Given the description of an element on the screen output the (x, y) to click on. 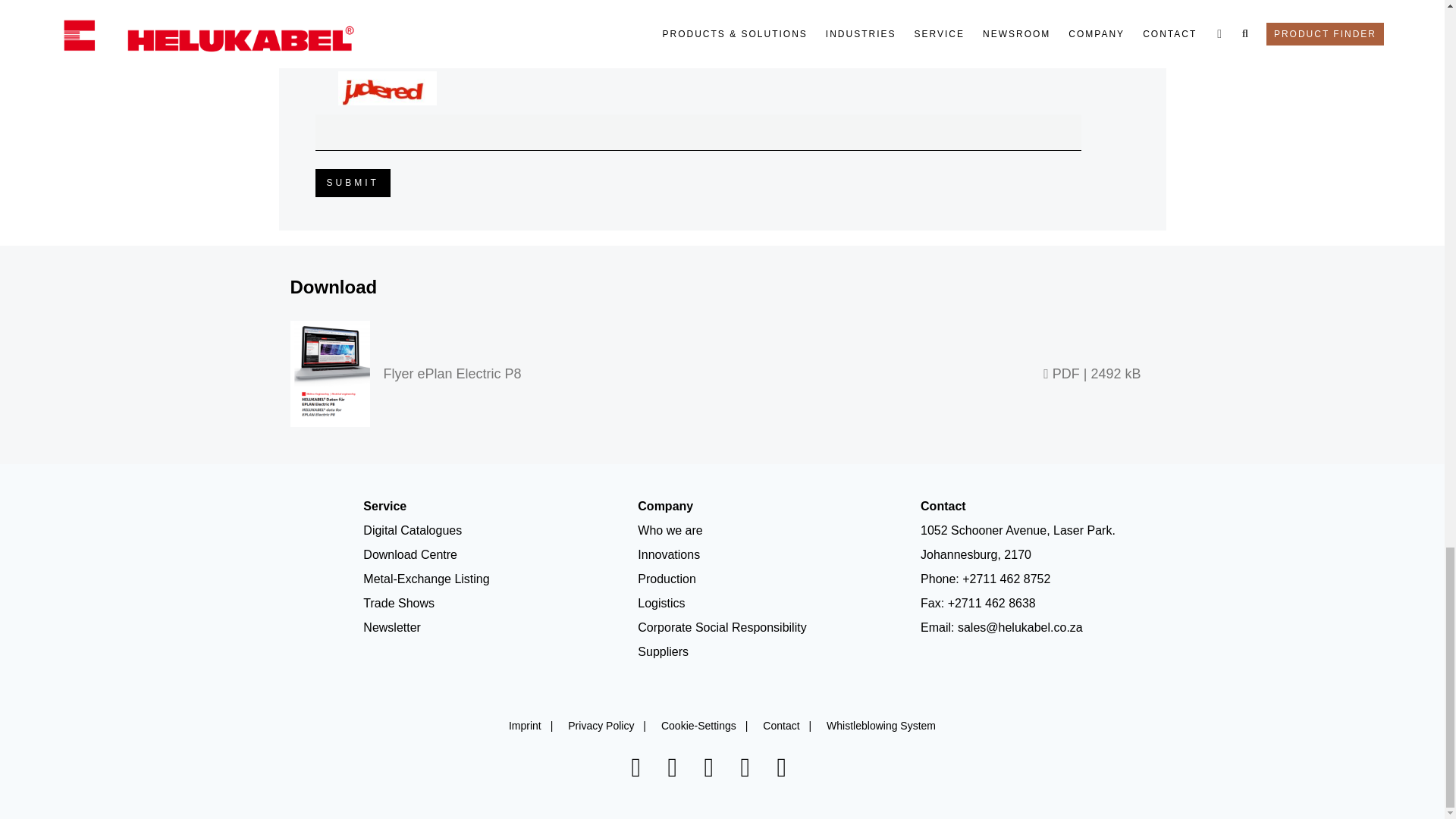
Submit (352, 182)
